Given the description of an element on the screen output the (x, y) to click on. 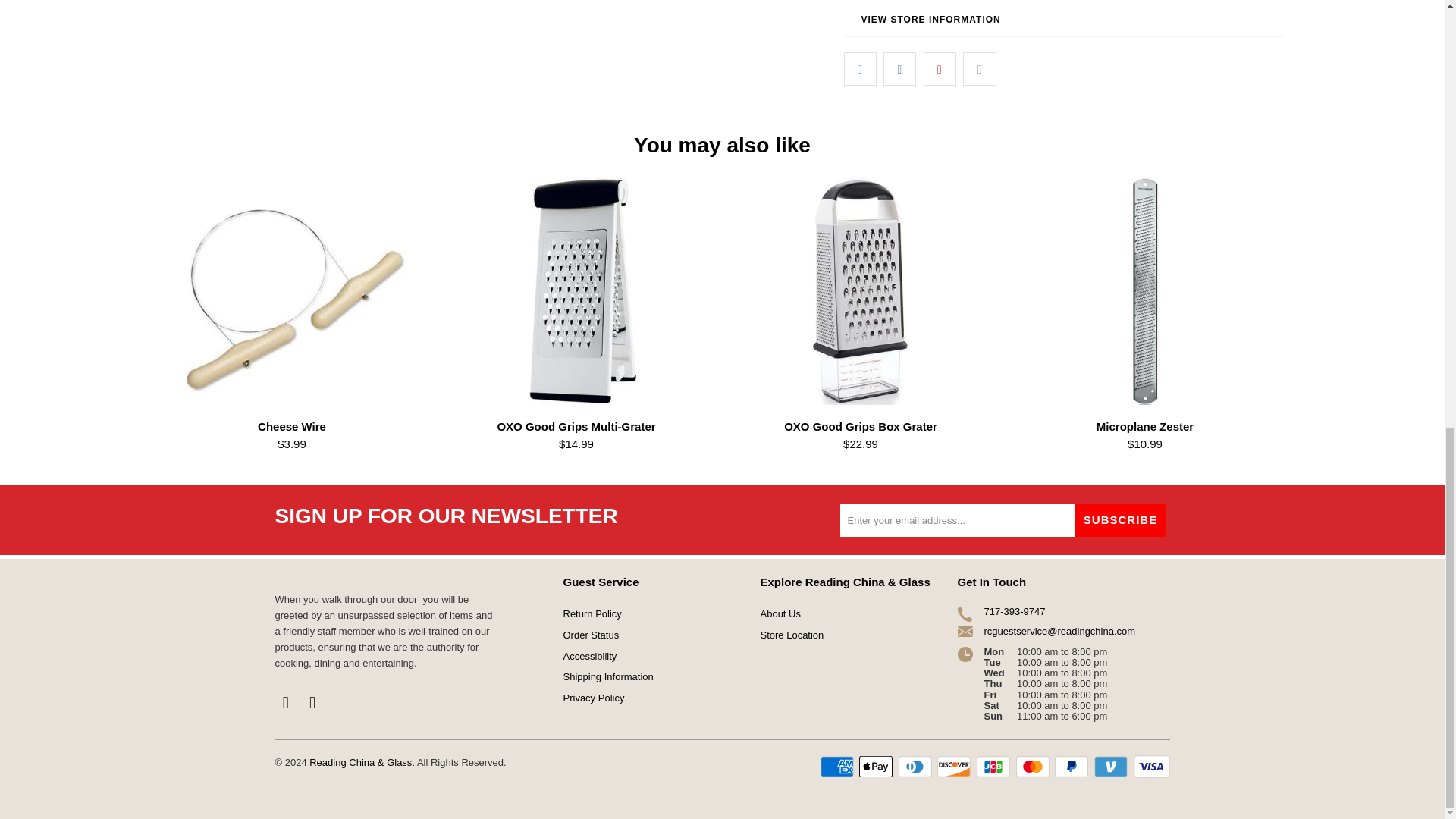
Apple Pay (877, 766)
Share this on Pinterest (939, 68)
Subscribe (1120, 520)
Discover (955, 766)
Share this on Twitter (859, 68)
Mastercard (1034, 766)
Venmo (1112, 766)
American Express (839, 766)
Email this to a friend (978, 68)
JCB (994, 766)
